Given the description of an element on the screen output the (x, y) to click on. 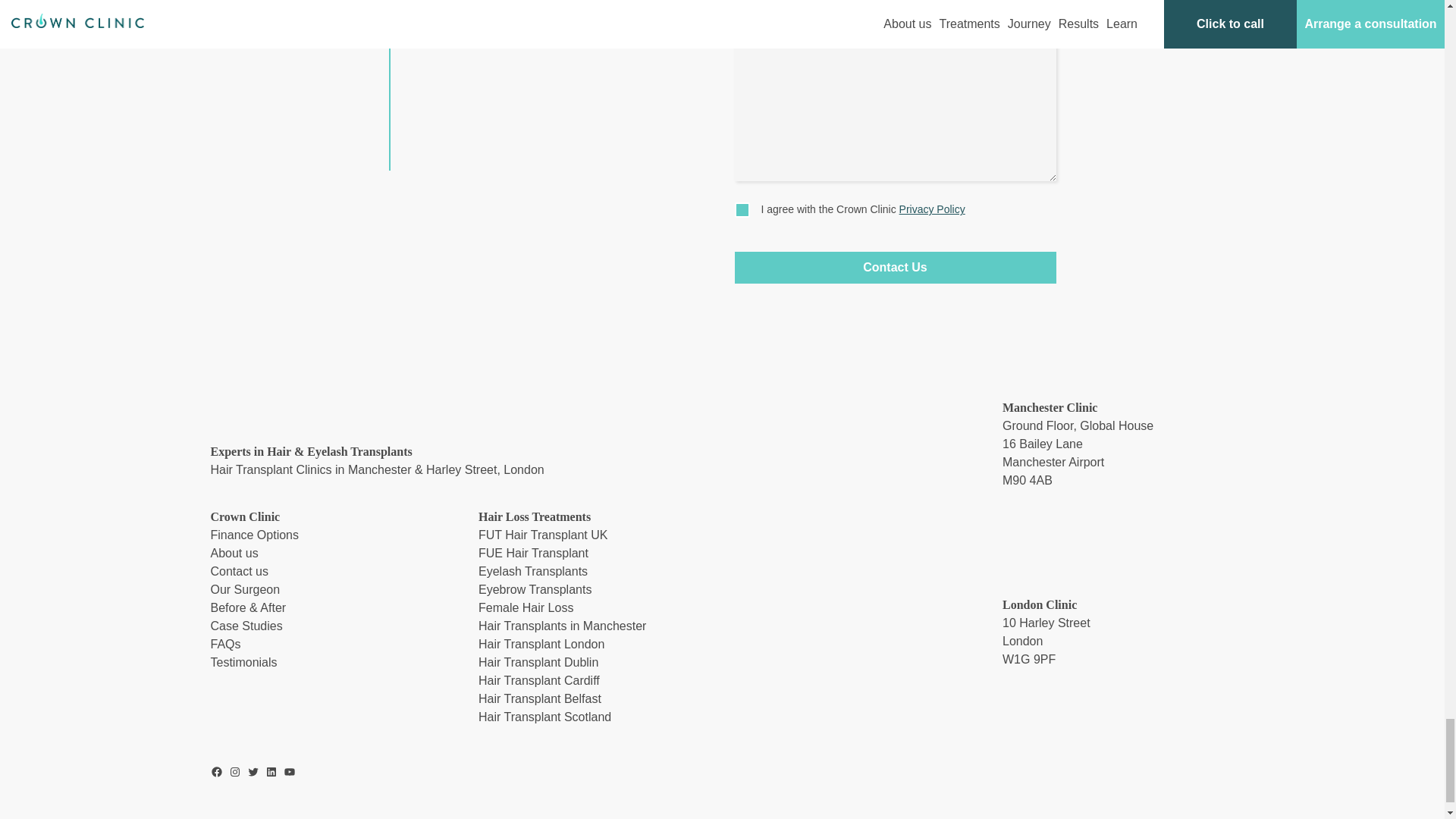
1 (741, 209)
Contact Us (894, 266)
